Given the description of an element on the screen output the (x, y) to click on. 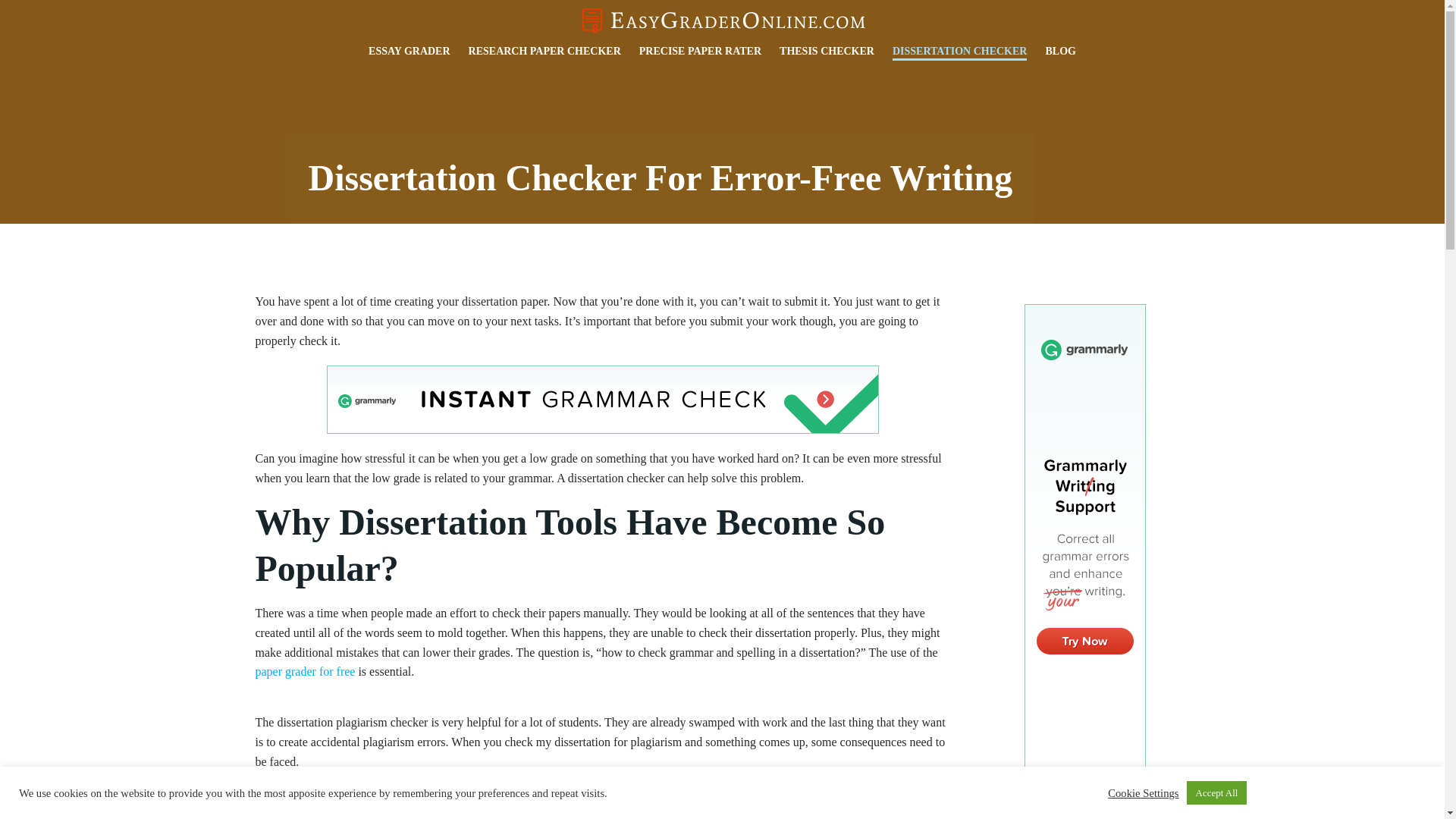
DISSERTATION CHECKER (959, 52)
paper grader for free (304, 671)
ESSAY GRADER (408, 55)
BLOG (1060, 51)
THESIS CHECKER (826, 52)
RESEARCH PAPER CHECKER (544, 54)
Accept All (1216, 792)
Cookie Settings (1142, 791)
PRECISE PAPER RATER (700, 53)
